Given the description of an element on the screen output the (x, y) to click on. 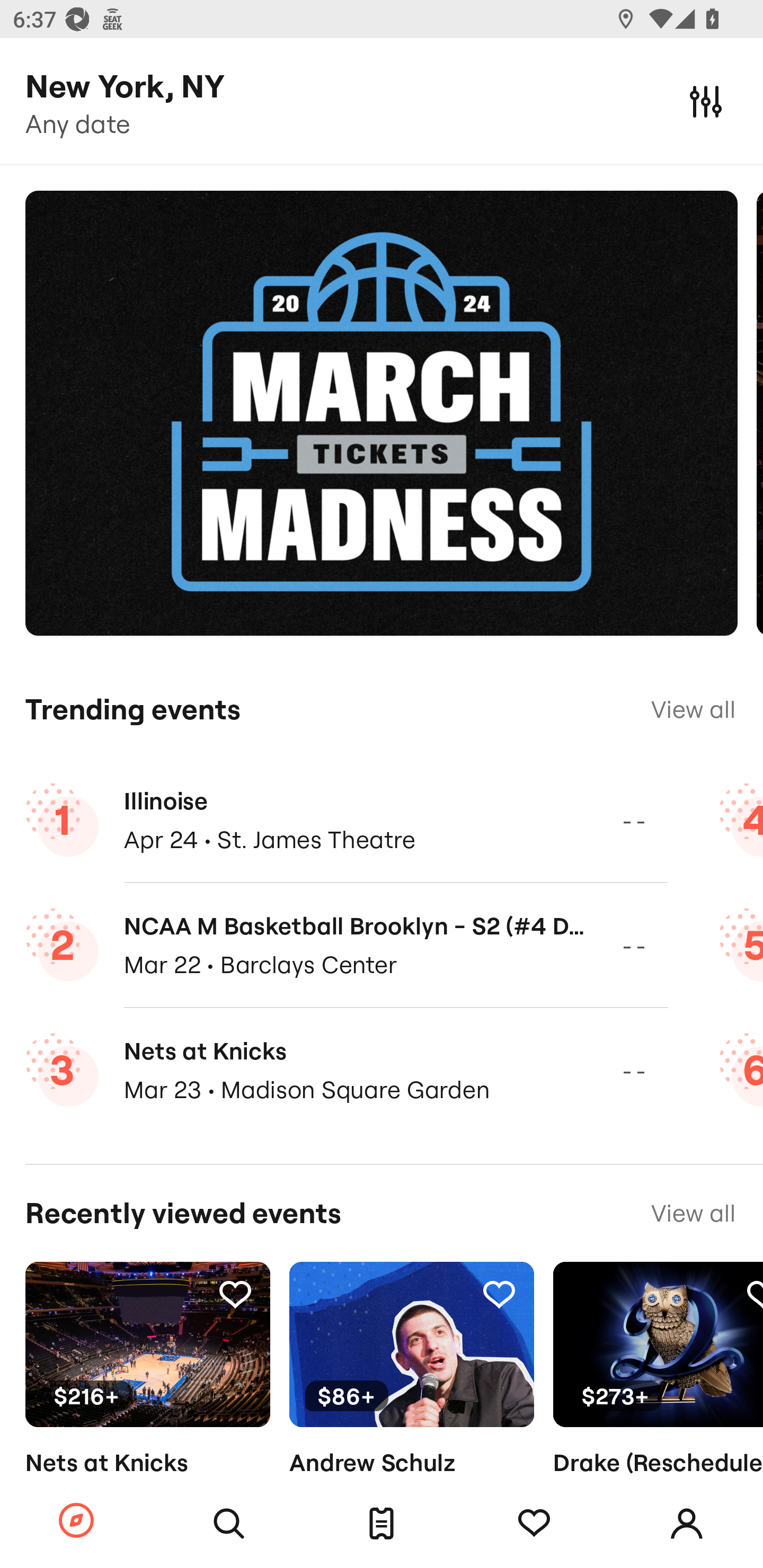
Filters (705, 100)
View all (693, 709)
View all (693, 1213)
Tracking $216+ Nets at Knicks Sat, Mar 23, 1 PM (147, 1399)
Tracking $86+ Andrew Schulz Sat, May 4, 8 PM (411, 1399)
Tracking (234, 1293)
Tracking (498, 1293)
Browse (76, 1521)
Search (228, 1523)
Tickets (381, 1523)
Tracking (533, 1523)
Account (686, 1523)
